Given the description of an element on the screen output the (x, y) to click on. 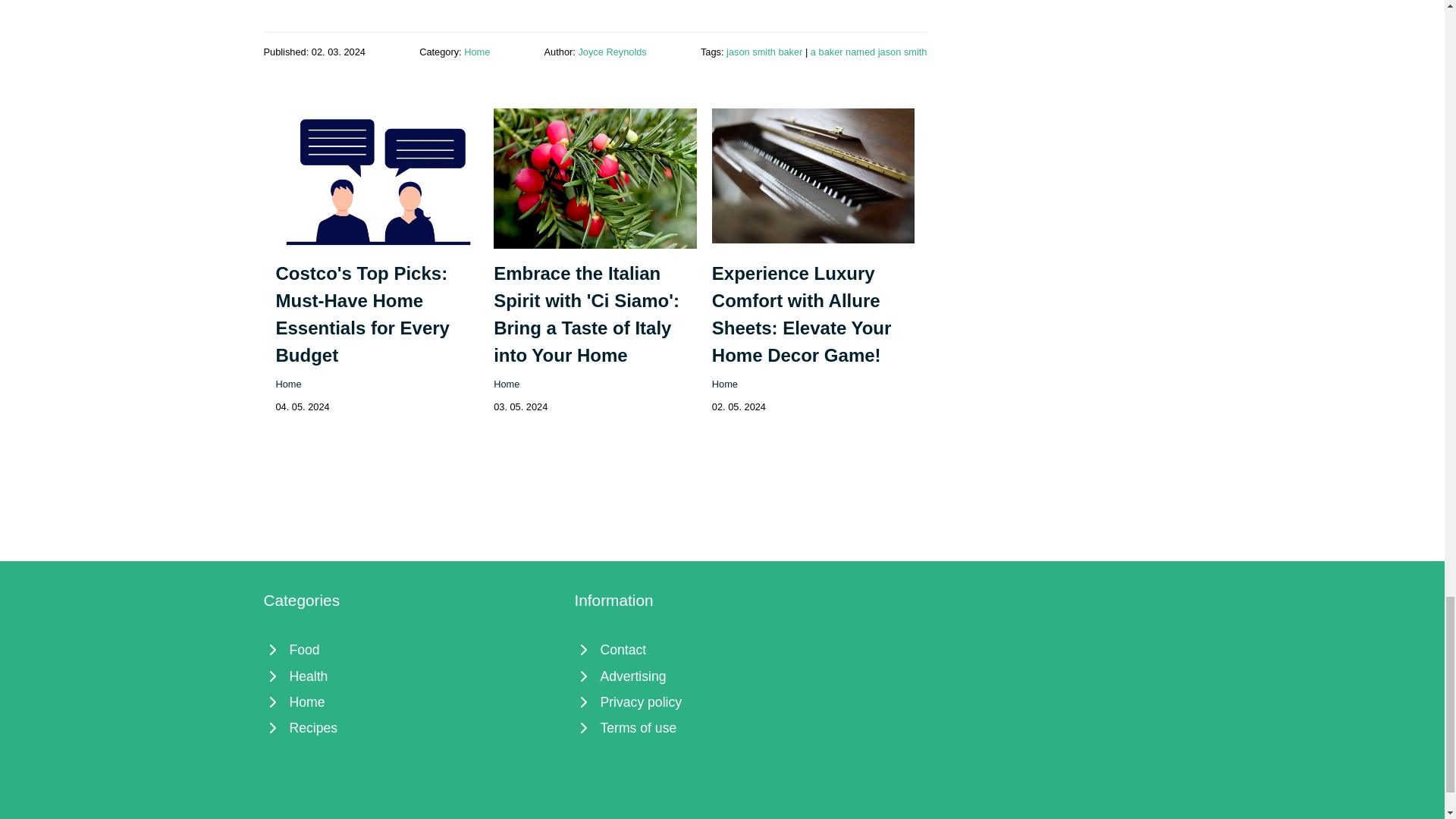
Terms of use (722, 727)
Home (288, 383)
Joyce Reynolds (612, 50)
jason smith baker (764, 50)
Home (411, 701)
a baker named jason smith (868, 50)
Health (411, 675)
Home (724, 383)
Advertising (722, 675)
Home (476, 50)
Food (411, 649)
Recipes (411, 727)
